Given the description of an element on the screen output the (x, y) to click on. 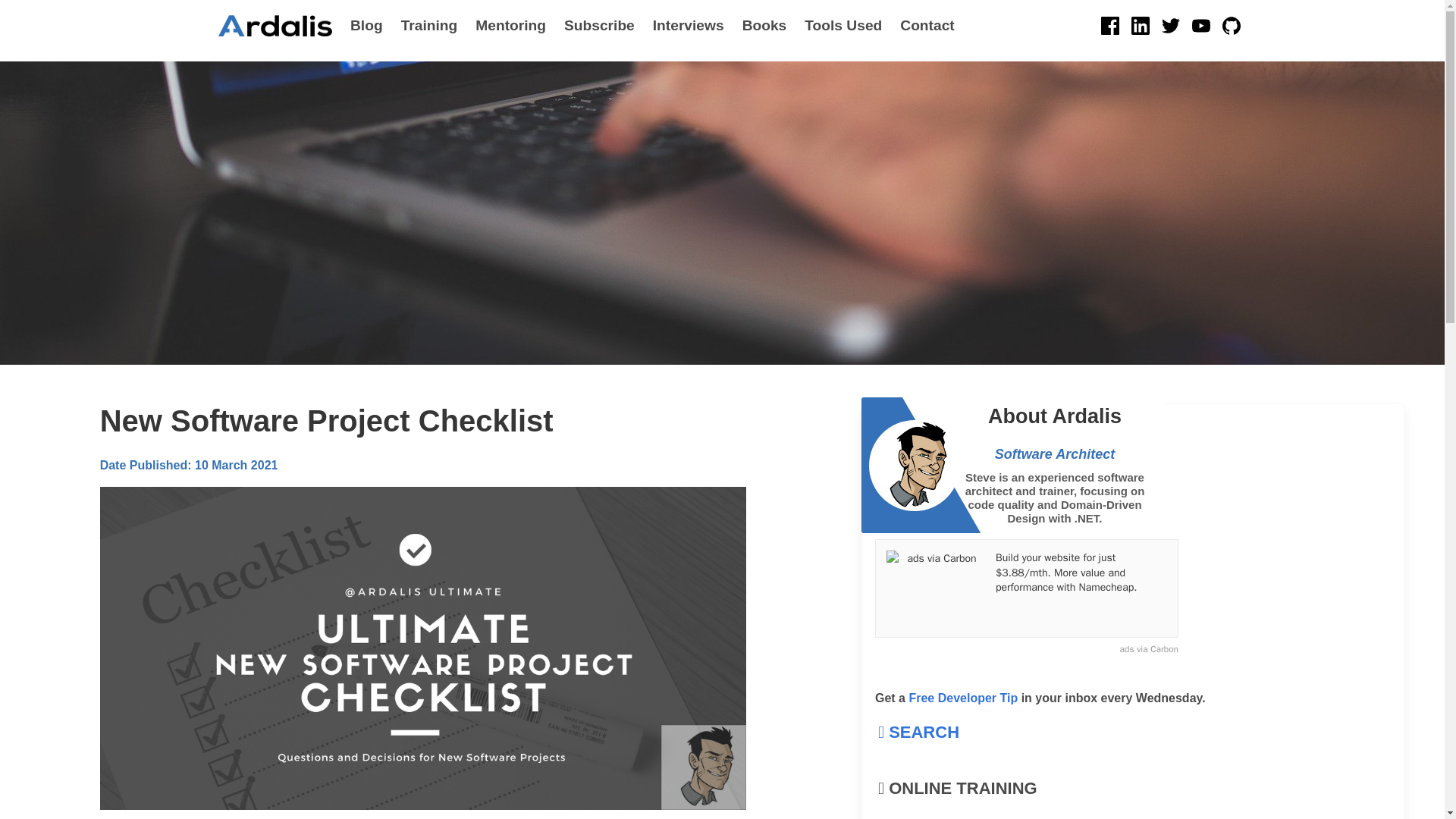
Mentoring (509, 25)
Free Developer Tip (962, 697)
Subscribe (598, 25)
Tools Used (842, 25)
Logo (274, 25)
Books (764, 25)
Training (429, 25)
Contact (926, 25)
Interviews (688, 25)
ads via Carbon (1026, 649)
